Given the description of an element on the screen output the (x, y) to click on. 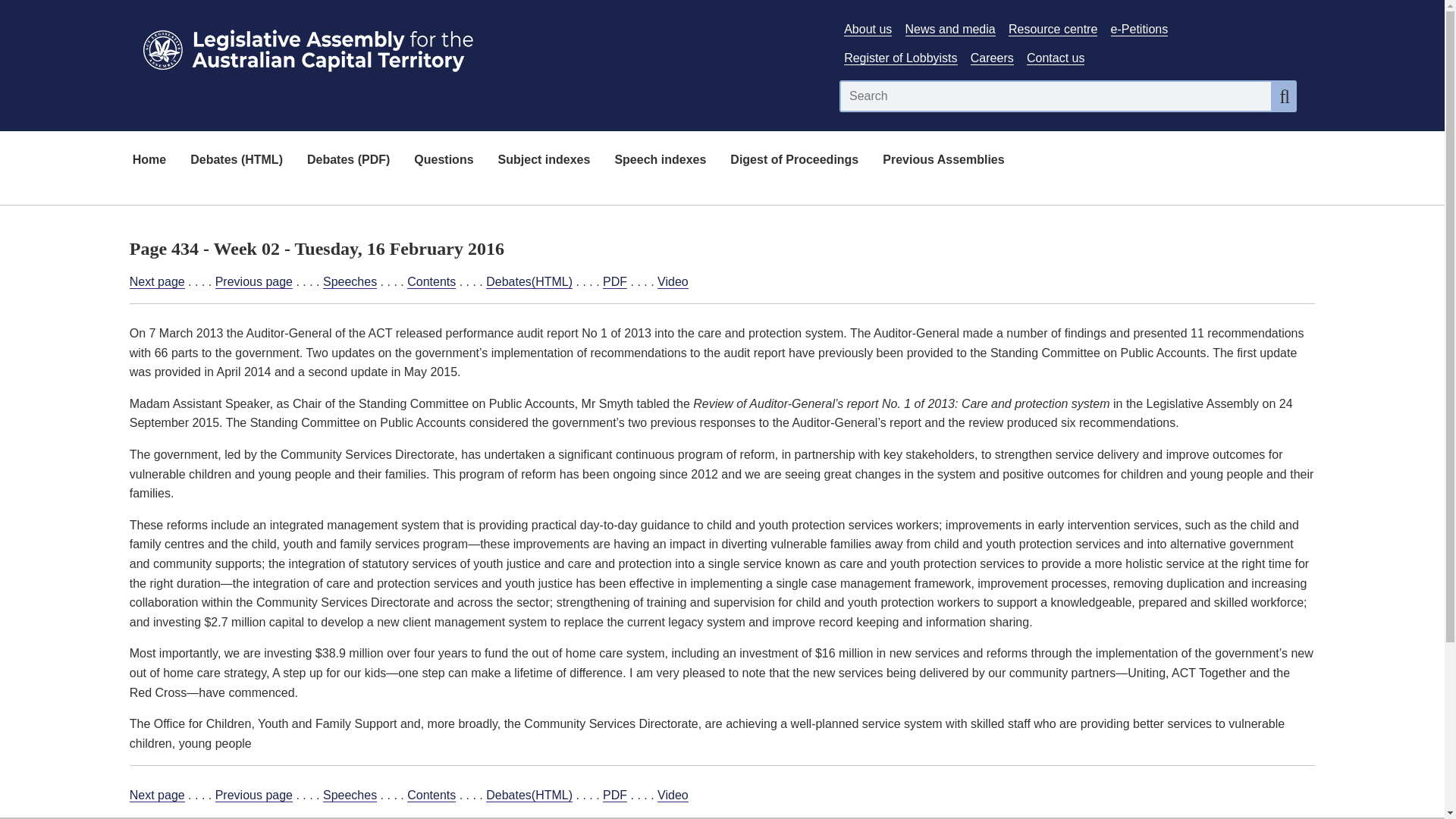
Link to News and media (950, 29)
Contents (431, 795)
Previous page (253, 282)
Careers (992, 58)
Previous Assemblies (943, 160)
Resource centre (1053, 29)
Contents (431, 282)
Digest of Proceedings (793, 160)
Link to Register of Lobbyists (900, 58)
Register of Lobbyists (900, 58)
